Given the description of an element on the screen output the (x, y) to click on. 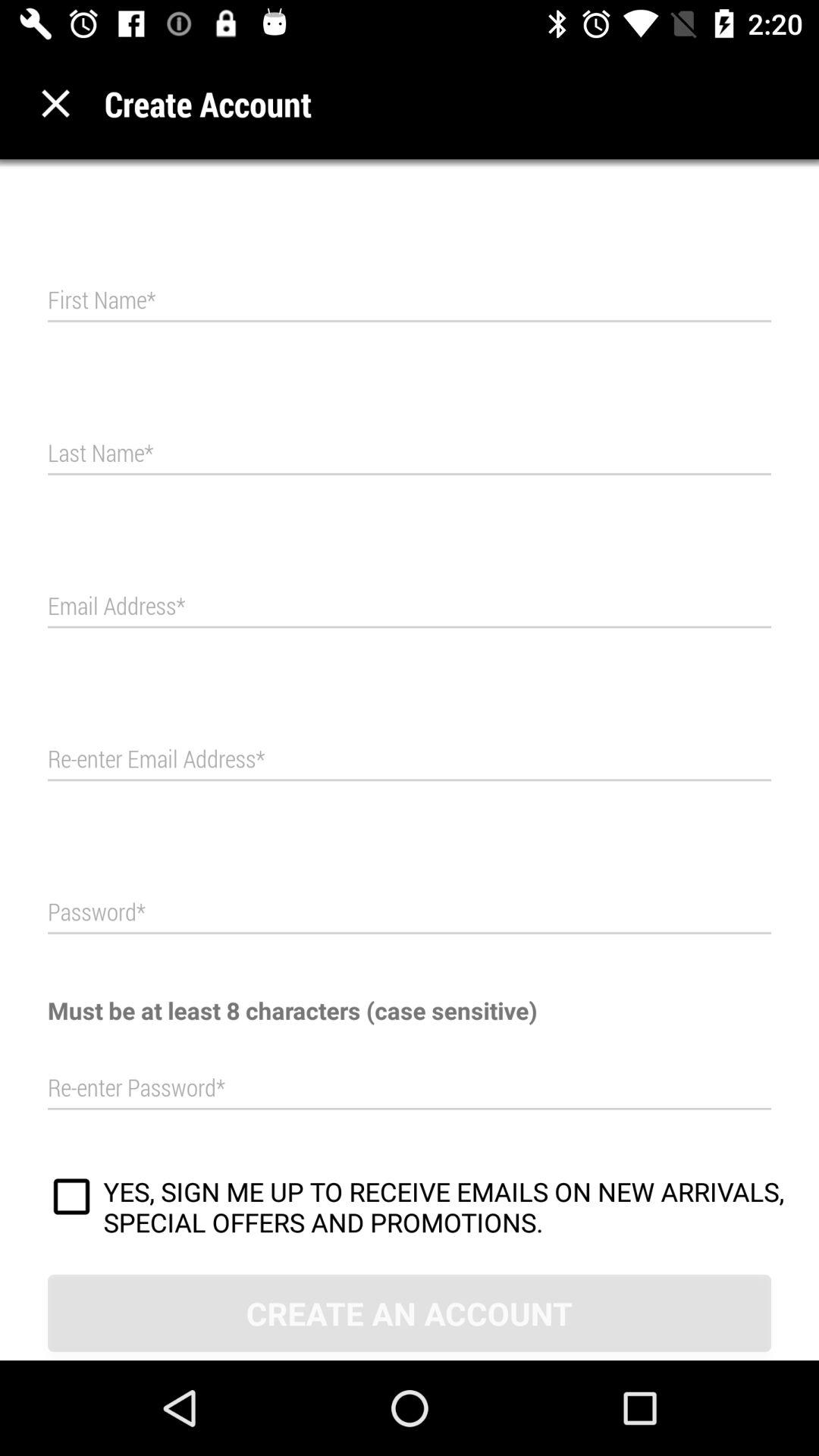
enter first name (409, 300)
